Given the description of an element on the screen output the (x, y) to click on. 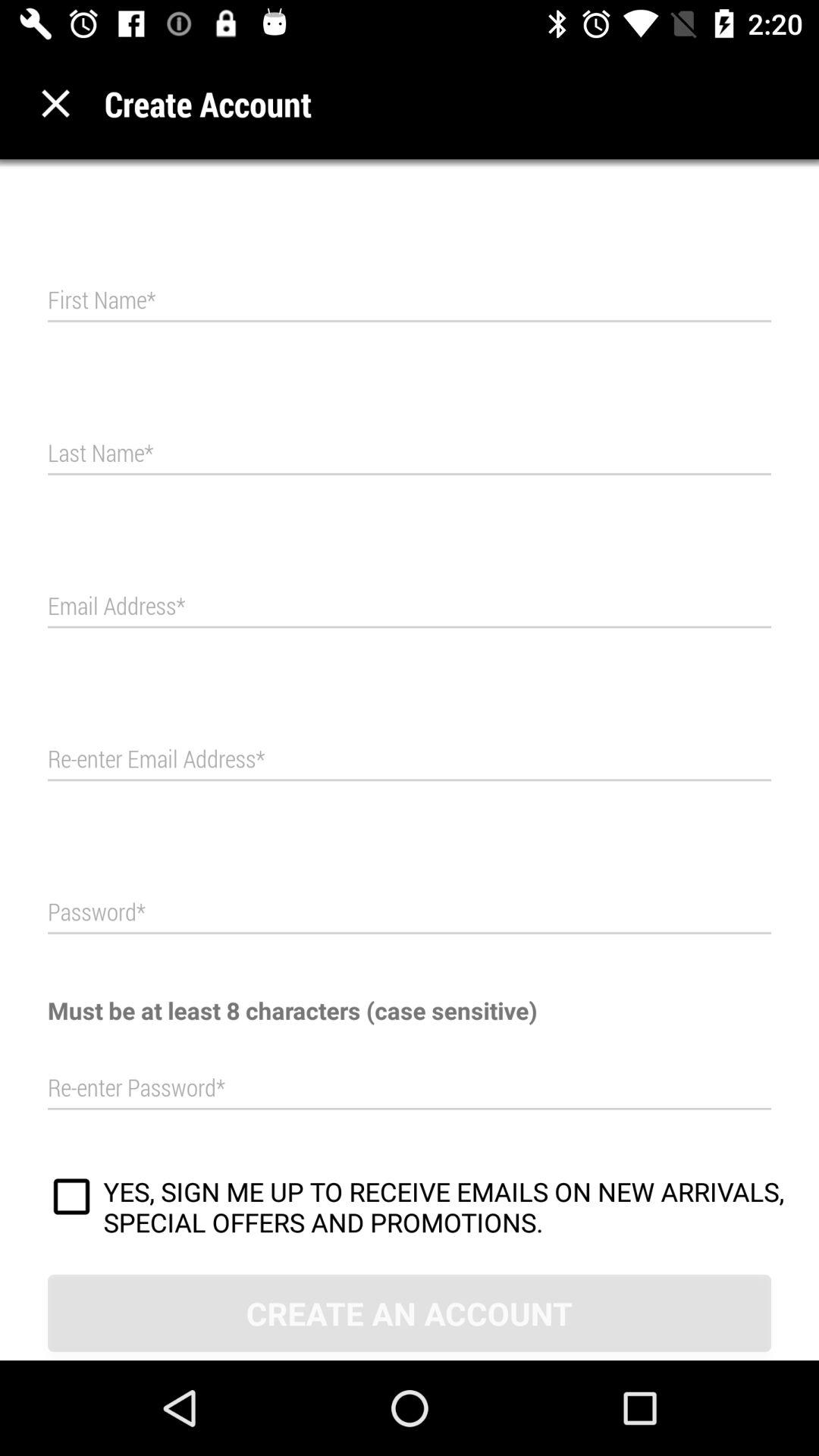
enter first name (409, 300)
